Given the description of an element on the screen output the (x, y) to click on. 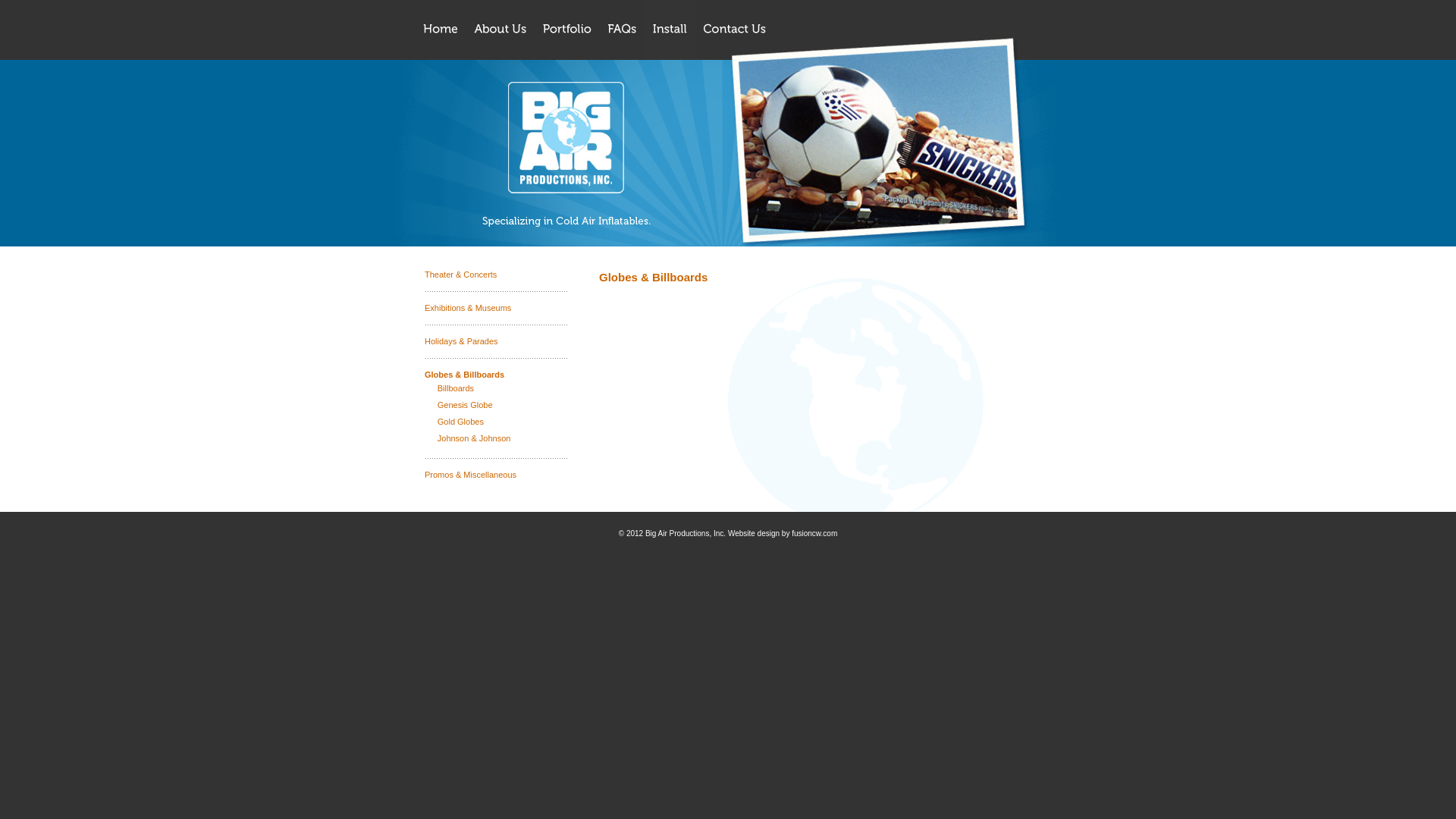
Globes & Billboards Element type: text (464, 374)
Exhibitions & Museums Element type: text (467, 307)
Promos & Miscellaneous Element type: text (470, 474)
Theater & Concerts Element type: text (460, 274)
Genesis Globe Element type: text (464, 404)
Holidays & Parades Element type: text (461, 340)
Johnson & Johnson Element type: text (474, 437)
fusioncw.com Element type: text (814, 533)
Billboards Element type: text (455, 387)
Gold Globes Element type: text (460, 421)
